Given the description of an element on the screen output the (x, y) to click on. 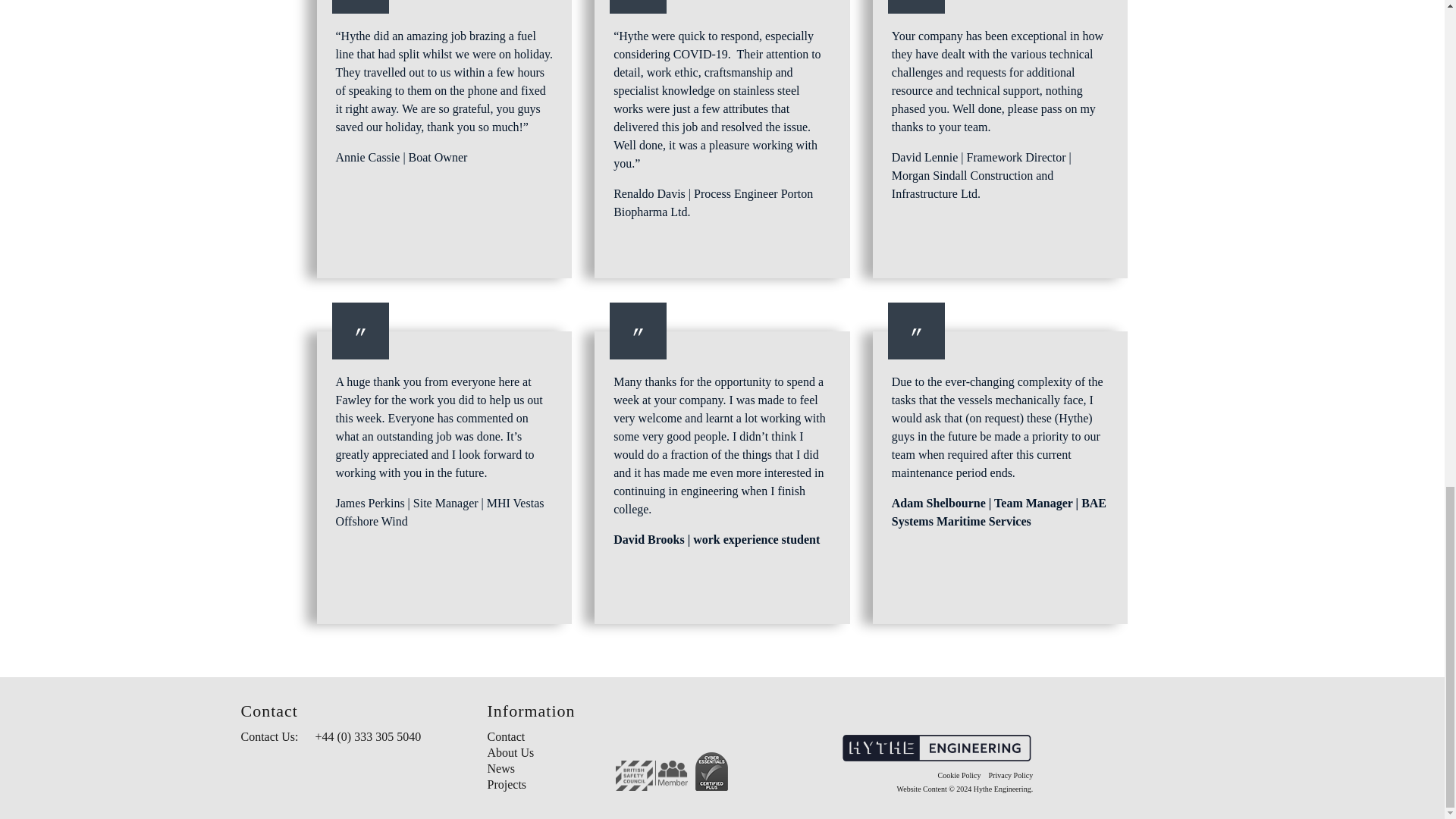
Contact (505, 736)
Cookie Policy (959, 775)
About Us (510, 752)
Privacy Policy (1010, 775)
Projects (505, 784)
News (499, 768)
